Given the description of an element on the screen output the (x, y) to click on. 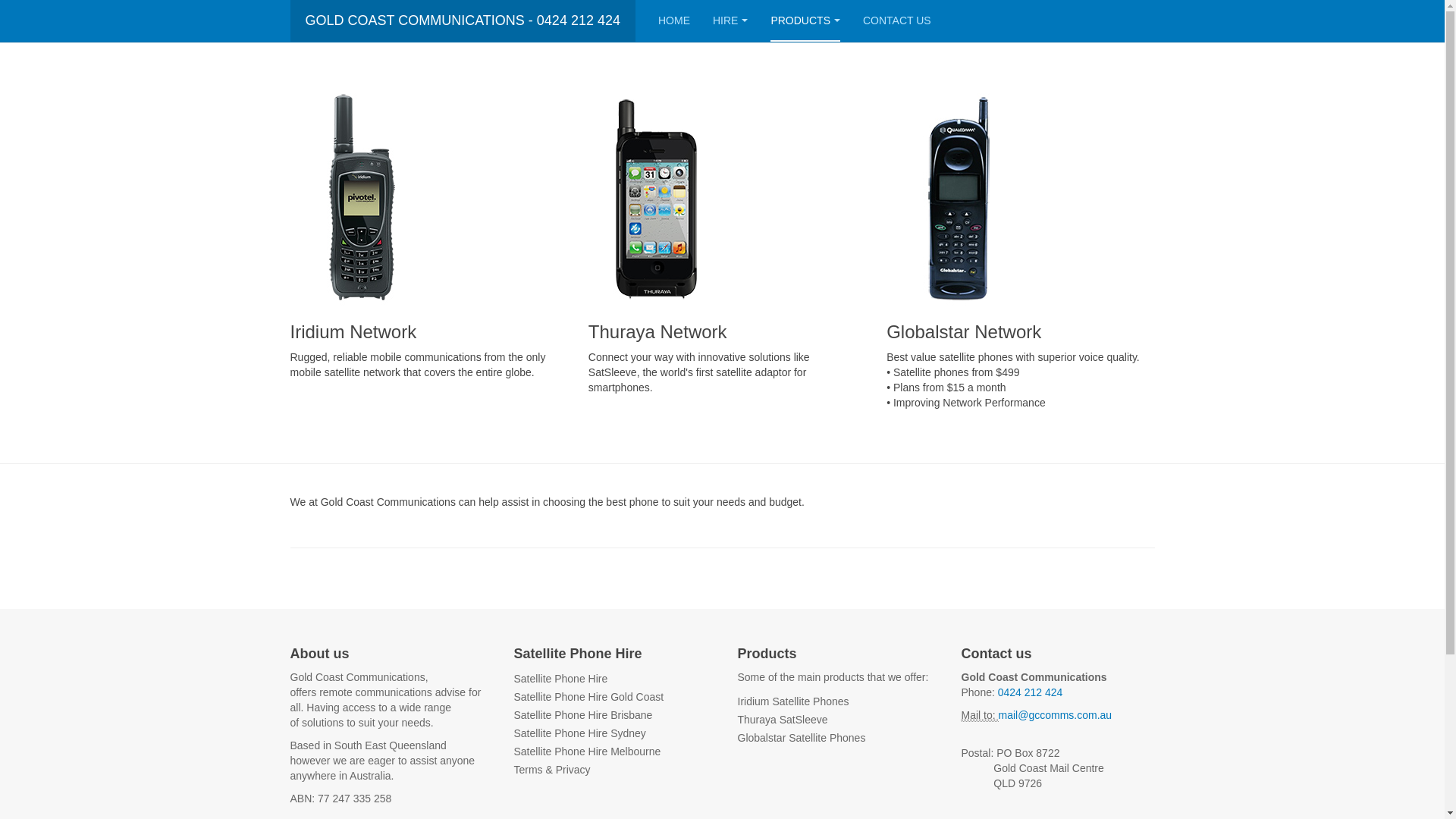
HOME Element type: text (674, 20)
Globalstar Satellite Phones Element type: text (801, 737)
Satellite Phone Hire Element type: text (561, 678)
HIRE Element type: text (729, 20)
Satellite Phone Hire Brisbane Element type: text (583, 715)
0424 212 424 Element type: text (1030, 692)
PRODUCTS Element type: text (805, 20)
CONTACT US Element type: text (896, 20)
GOLD COAST COMMUNICATIONS - 0424 212 424 Element type: text (461, 20)
Satellite Phone Hire Gold Coast Element type: text (589, 696)
mail@gccomms.com.au Element type: text (1055, 715)
Satellite Phone Hire Melbourne Element type: text (587, 751)
Iridium Satellite Phones Element type: text (792, 701)
Terms & Privacy Element type: text (552, 769)
Thuraya SatSleeve Element type: text (782, 719)
Satellite Phone Hire Sydney Element type: text (580, 733)
